Given the description of an element on the screen output the (x, y) to click on. 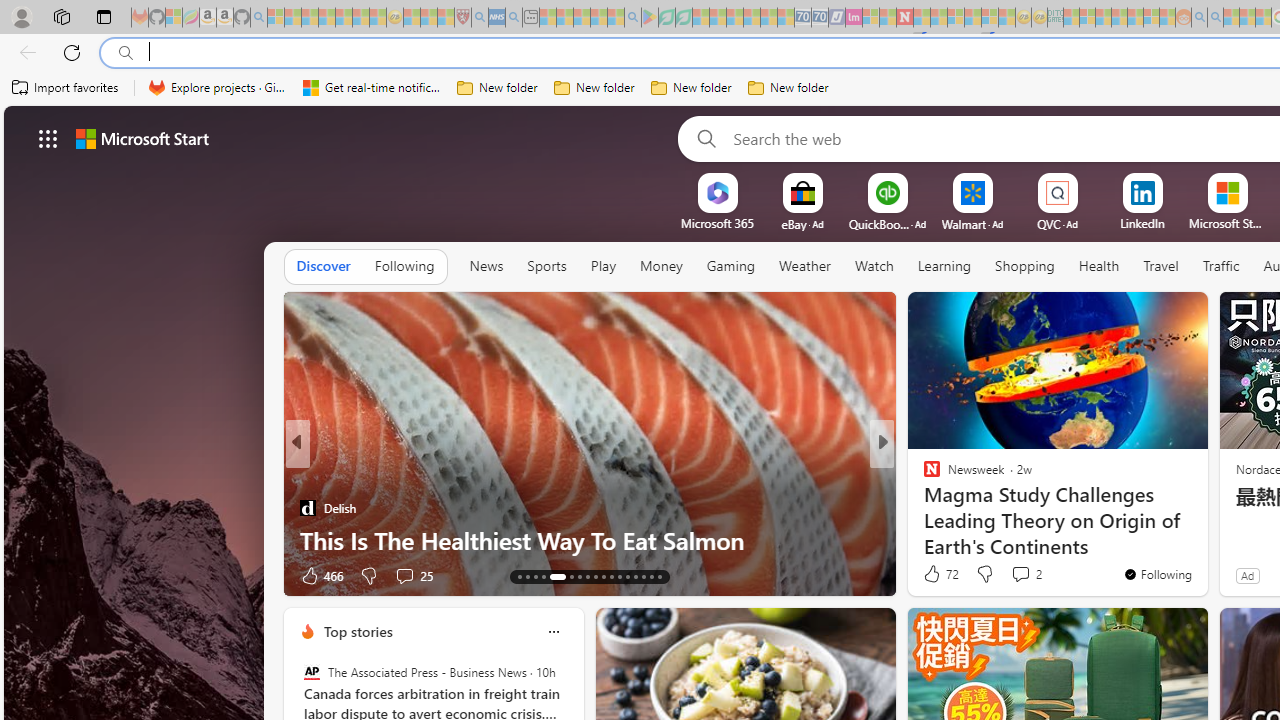
5 Like (930, 574)
The Weather Channel - MSN - Sleeping (309, 17)
New York Post (923, 475)
65 Like (934, 574)
MSNBC - MSN - Sleeping (1071, 17)
AutomationID: tab-18 (567, 576)
View comments 4 Comment (1019, 574)
New folder (788, 88)
New Report Confirms 2023 Was Record Hot | Watch - Sleeping (343, 17)
Cheap Hotels - Save70.com - Sleeping (819, 17)
Health (1099, 265)
Shopping (1025, 267)
